Given the description of an element on the screen output the (x, y) to click on. 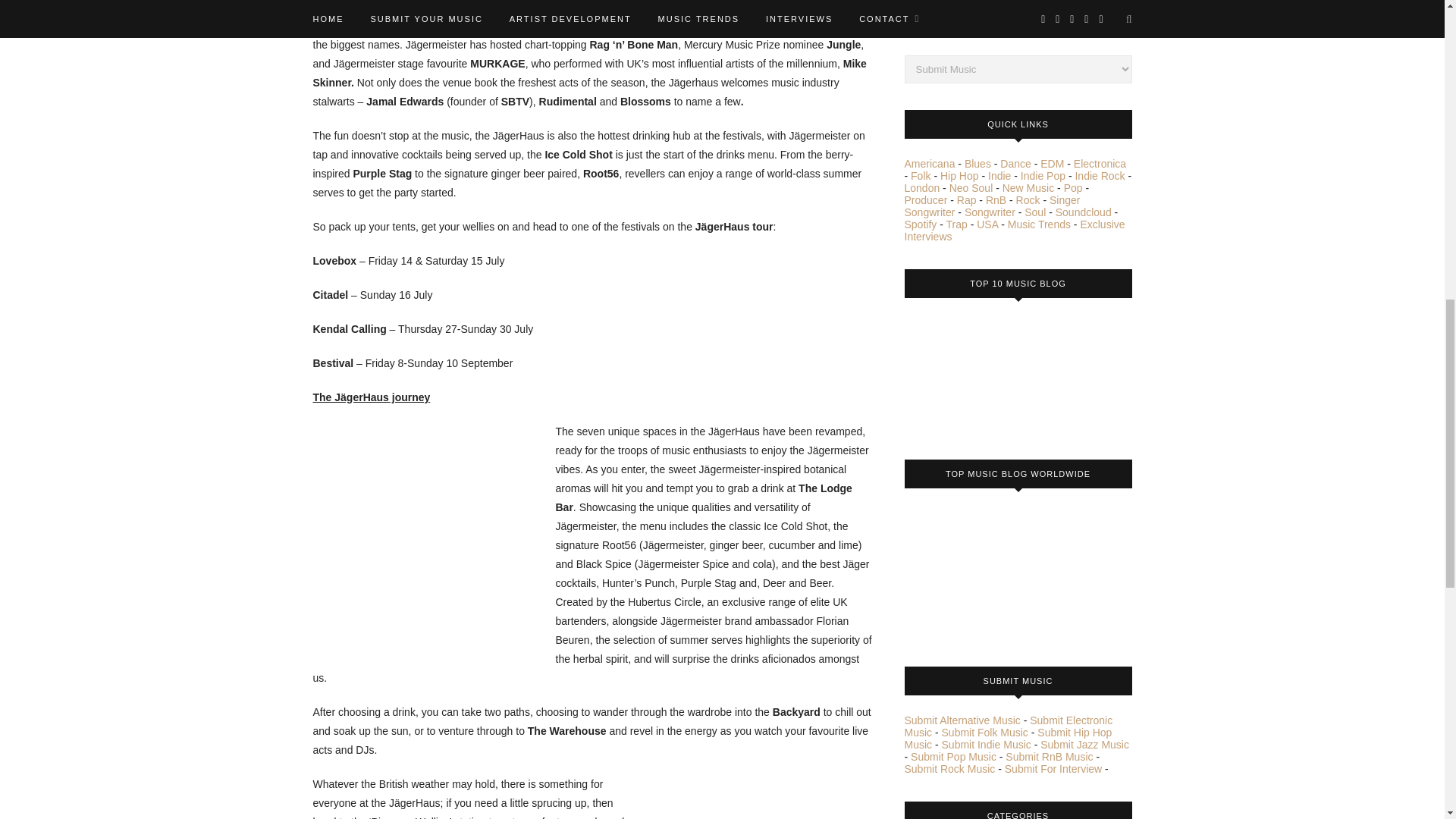
Neo Soul (970, 187)
Folk (920, 175)
Electronica (1099, 163)
Indie Rock (1099, 175)
Top 10 Music Blog (960, 373)
Americana (929, 163)
Blues (977, 163)
Indie (999, 175)
Hip Hop (959, 175)
EDM (1052, 163)
Dance (1015, 163)
London (921, 187)
New Music (1028, 187)
Indie Pop (1042, 175)
Pop (1073, 187)
